Given the description of an element on the screen output the (x, y) to click on. 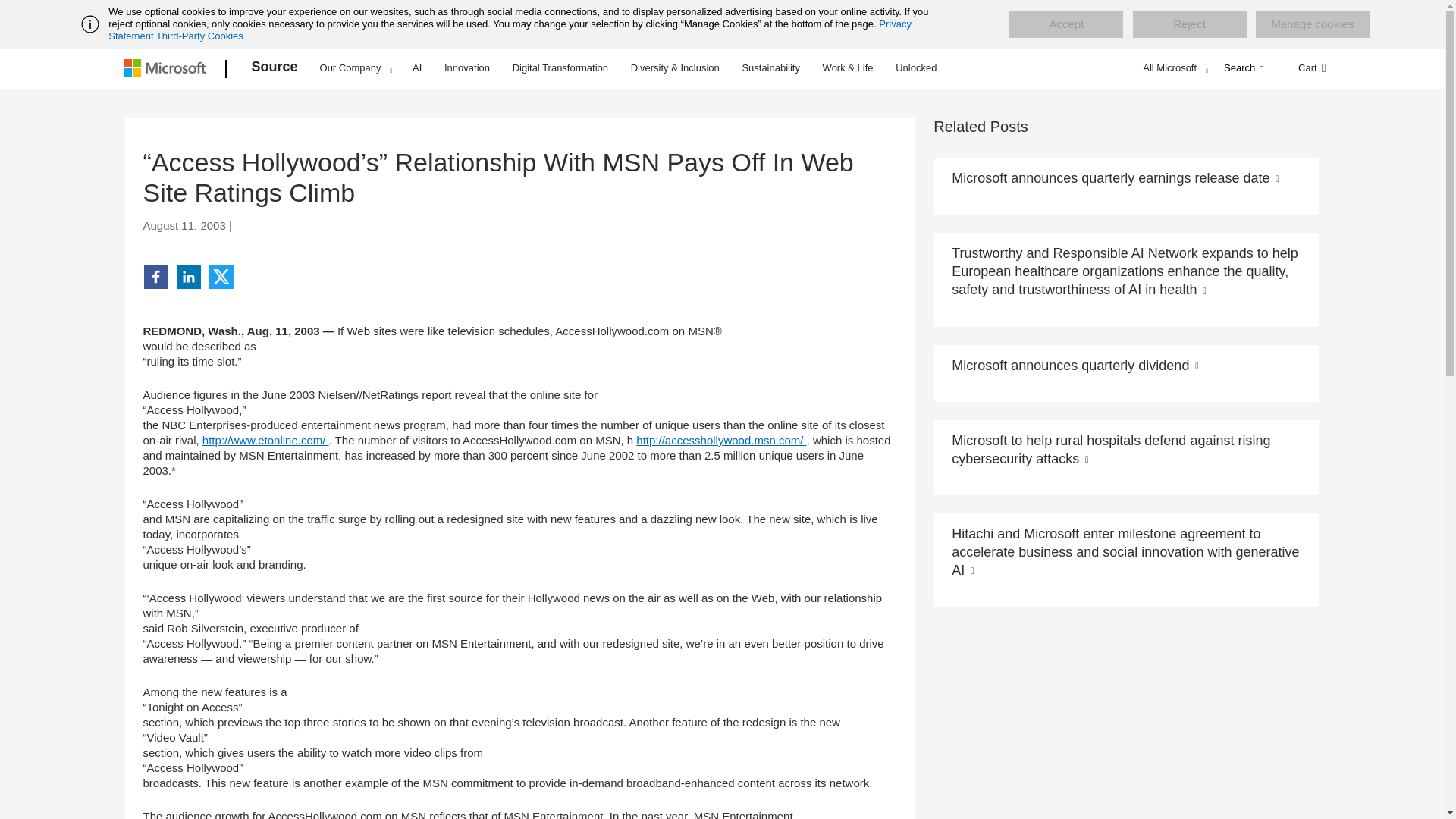
All Microsoft (1173, 67)
Unlocked (915, 67)
Manage cookies (1312, 23)
Our Company (355, 67)
Source (274, 69)
Accept (1065, 23)
Innovation (467, 67)
Sustainability (770, 67)
Third-Party Cookies (199, 35)
Microsoft (167, 69)
Reject (1189, 23)
Digital Transformation (559, 67)
Privacy Statement (509, 29)
